Given the description of an element on the screen output the (x, y) to click on. 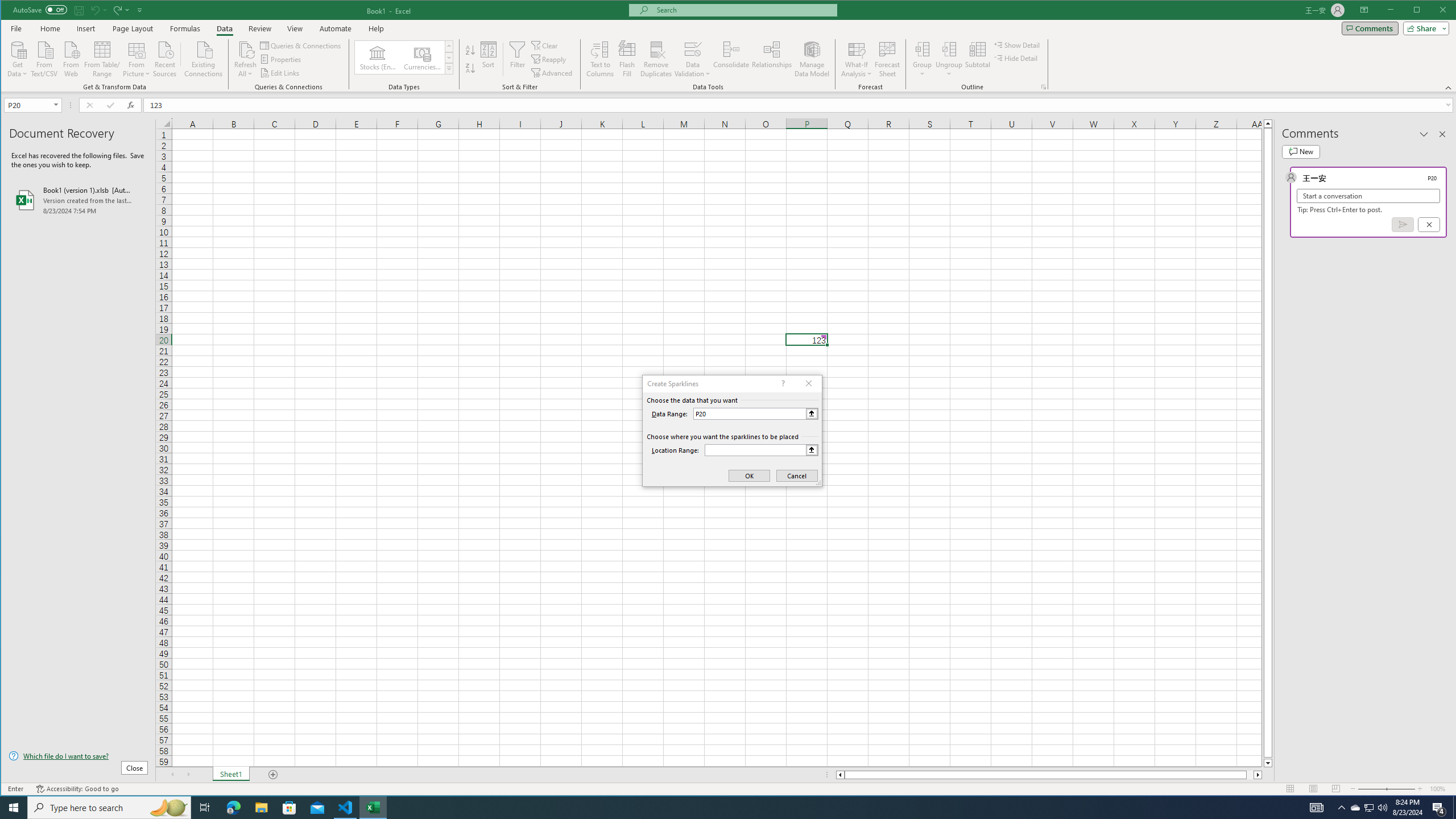
Reapply (549, 59)
From Picture (136, 57)
Row Down (448, 57)
Filter (517, 59)
From Text/CSV (44, 57)
